Given the description of an element on the screen output the (x, y) to click on. 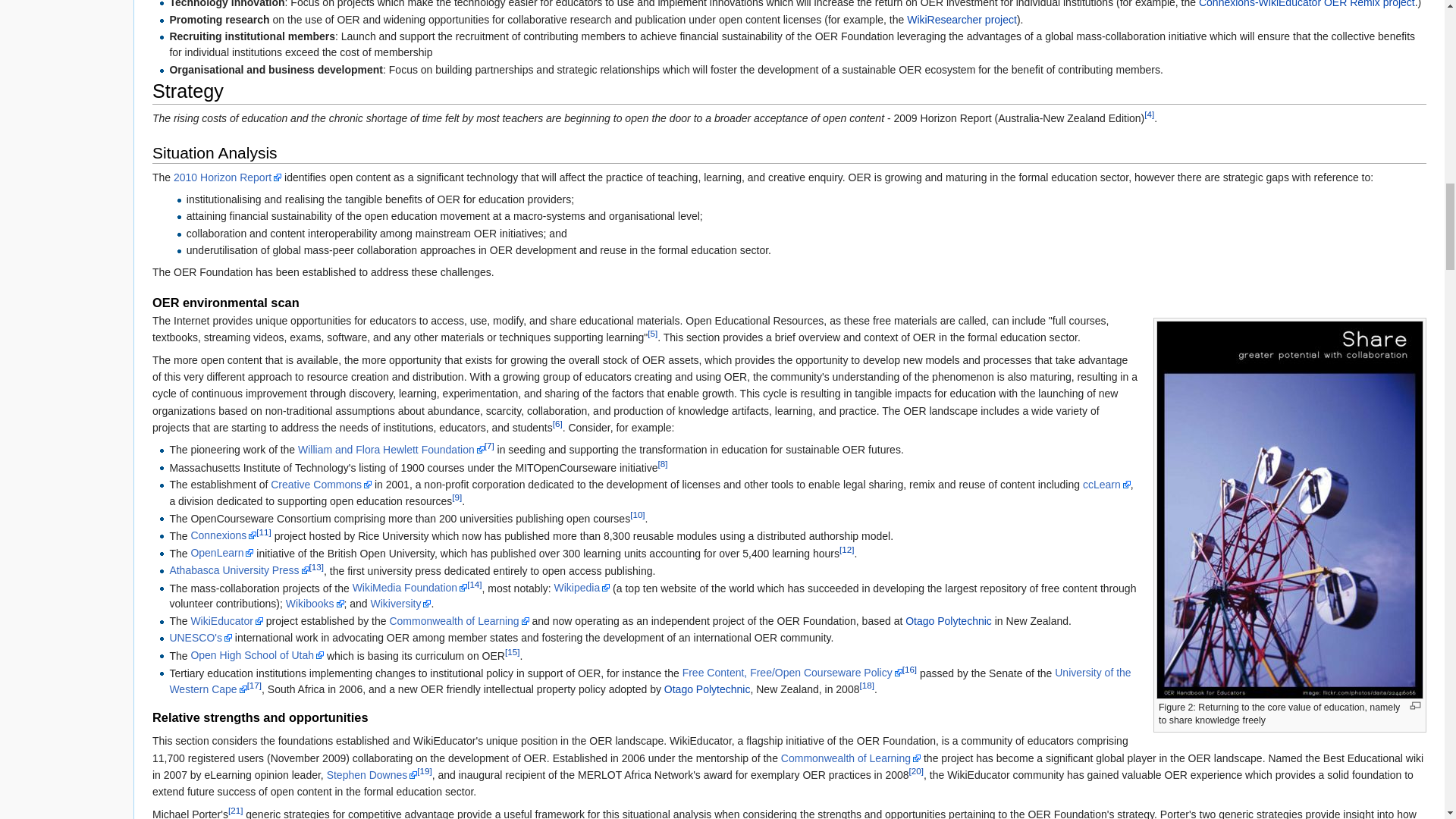
Enlarge (1415, 705)
CNX-WE (1306, 4)
Otago Polytechnic: An IP policy for the times (707, 689)
Connexions-WikiEducator OER Remix project (1306, 4)
Otago Polytechnic: An IP policy for the times (948, 621)
